Given the description of an element on the screen output the (x, y) to click on. 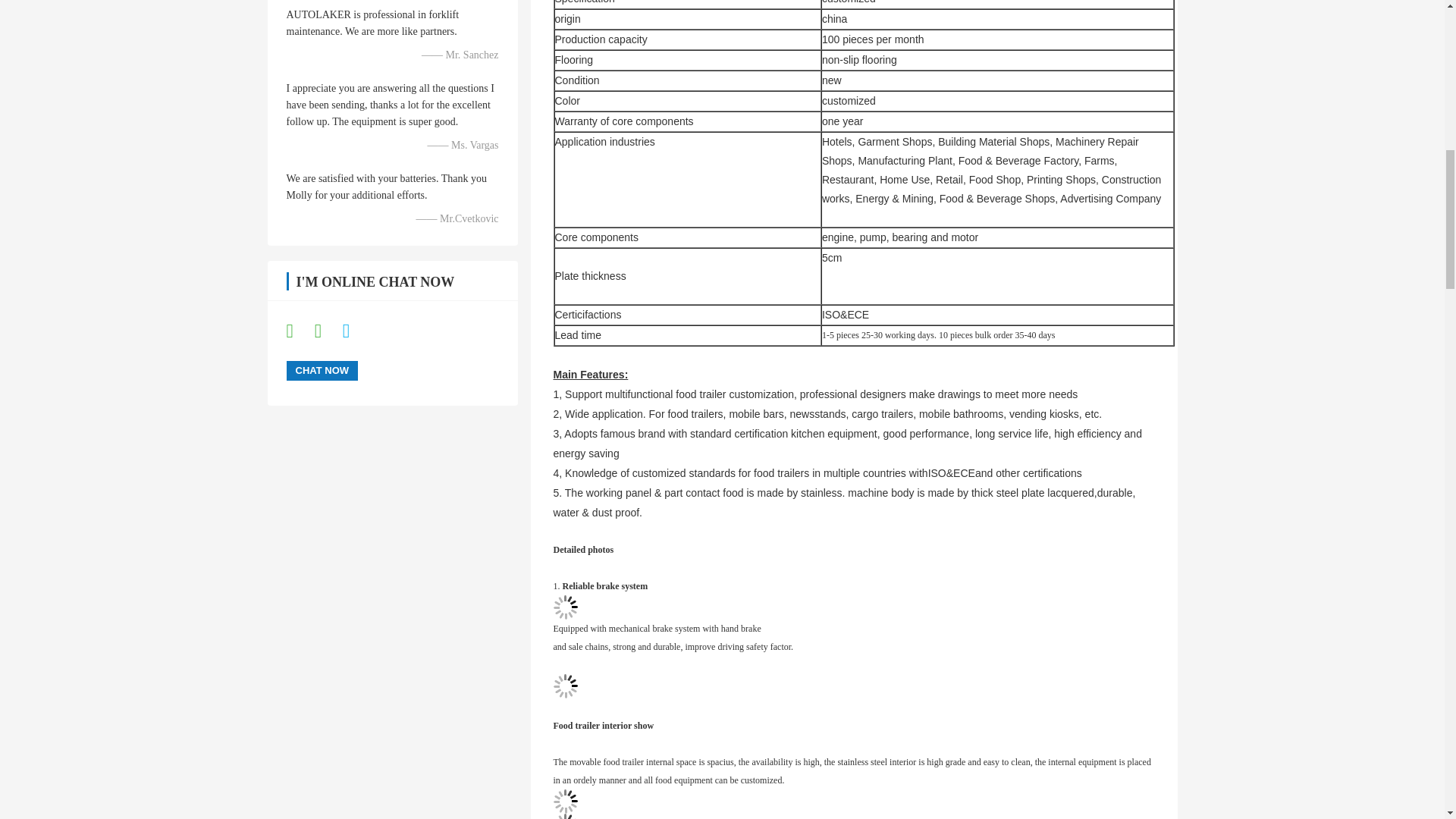
Chat Now (322, 370)
